Given the description of an element on the screen output the (x, y) to click on. 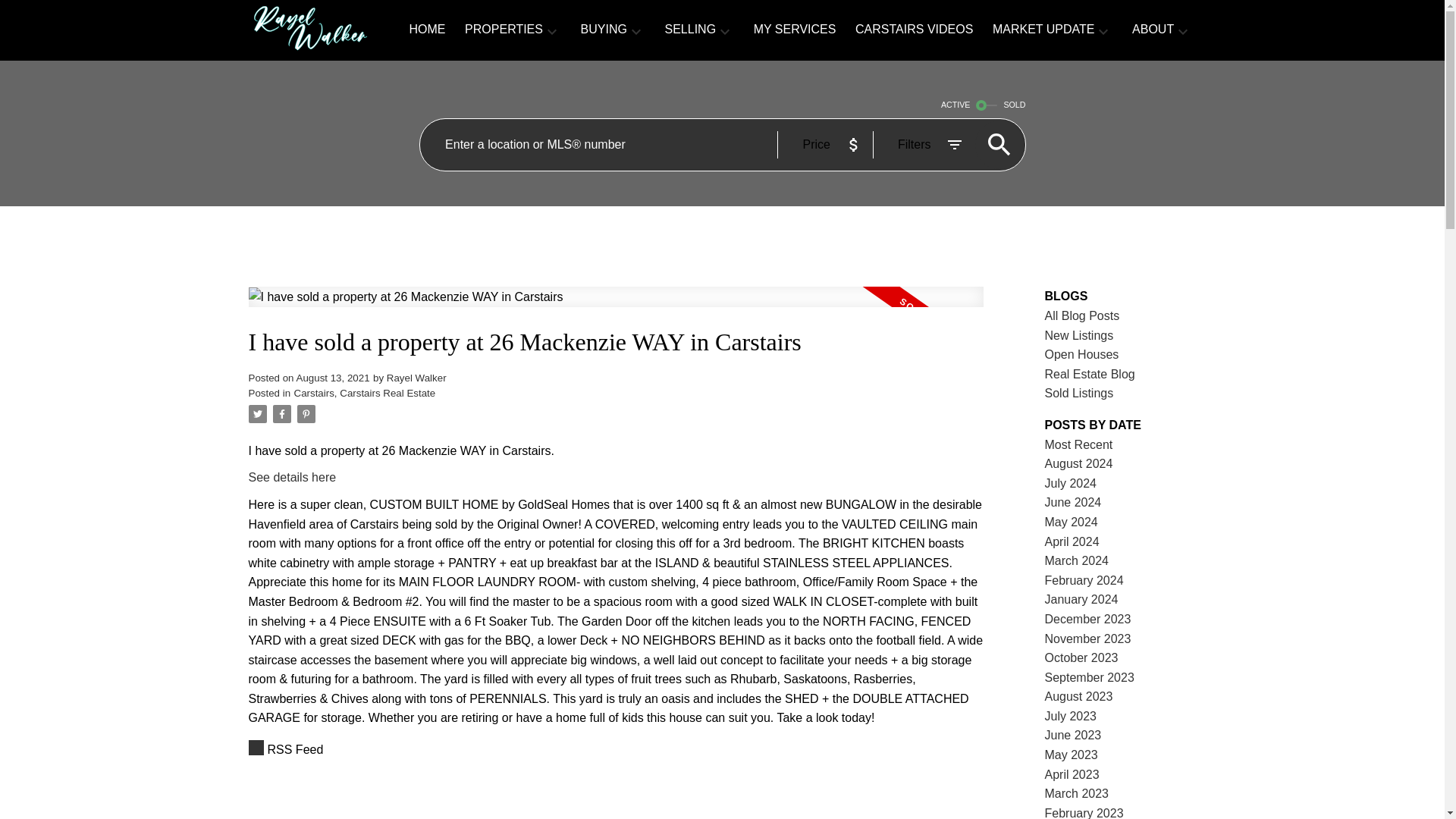
See details here (292, 477)
August 2024 (1079, 463)
CARSTAIRS VIDEOS (914, 30)
Sold Listings (1079, 392)
All Blog Posts (1082, 315)
Open Houses (1082, 354)
New Listings (1079, 335)
HOME (427, 30)
MARKET UPDATE (1043, 30)
MY SERVICES (794, 30)
RSS (616, 750)
PROPERTIES (503, 30)
Most Recent (1079, 444)
BUYING (603, 30)
SELLING (689, 30)
